Given the description of an element on the screen output the (x, y) to click on. 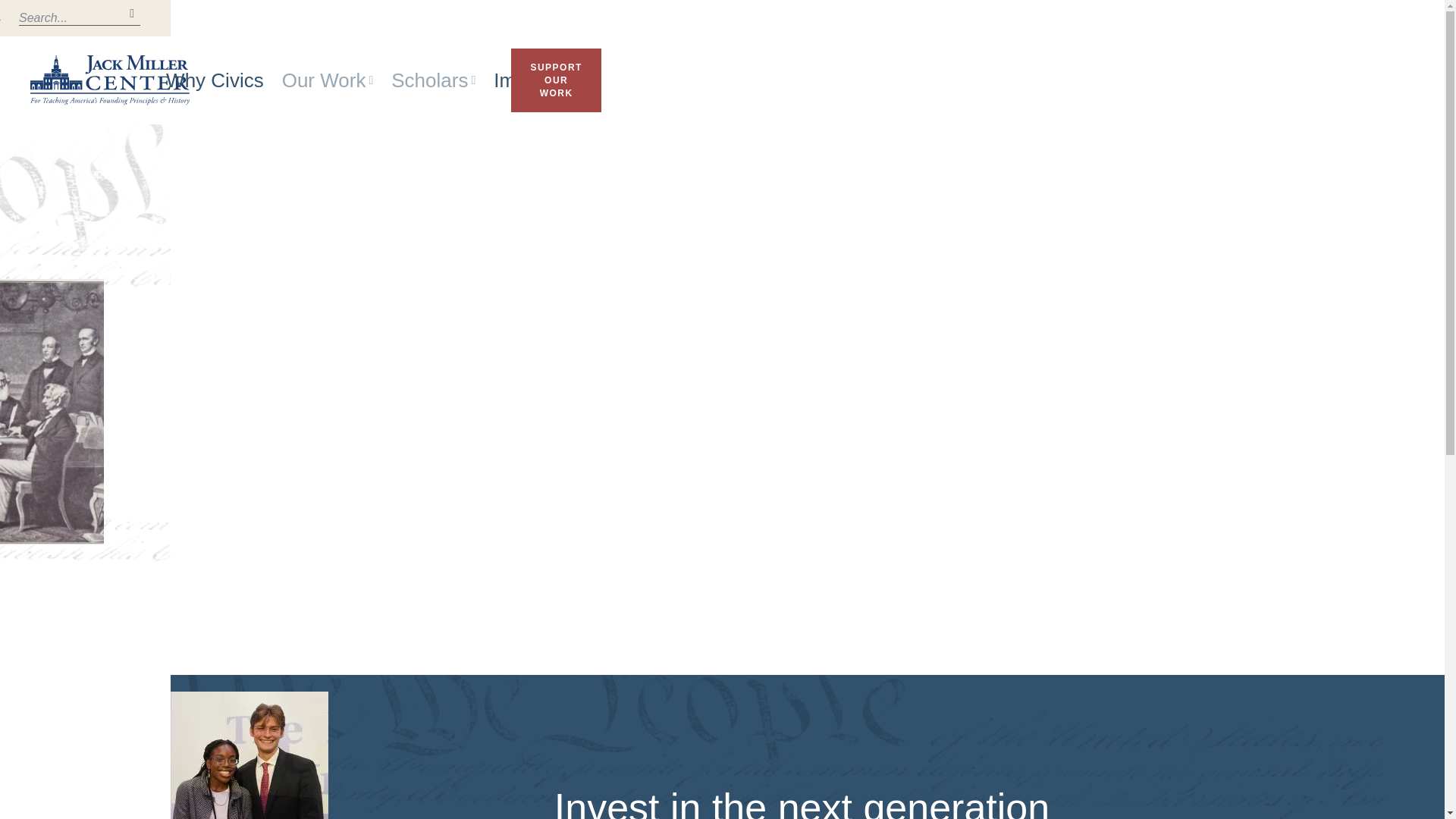
Why Civics (214, 80)
Impact (523, 80)
Scholars (433, 80)
Our Work (328, 80)
SUPPORT OUR WORK (556, 80)
